Given the description of an element on the screen output the (x, y) to click on. 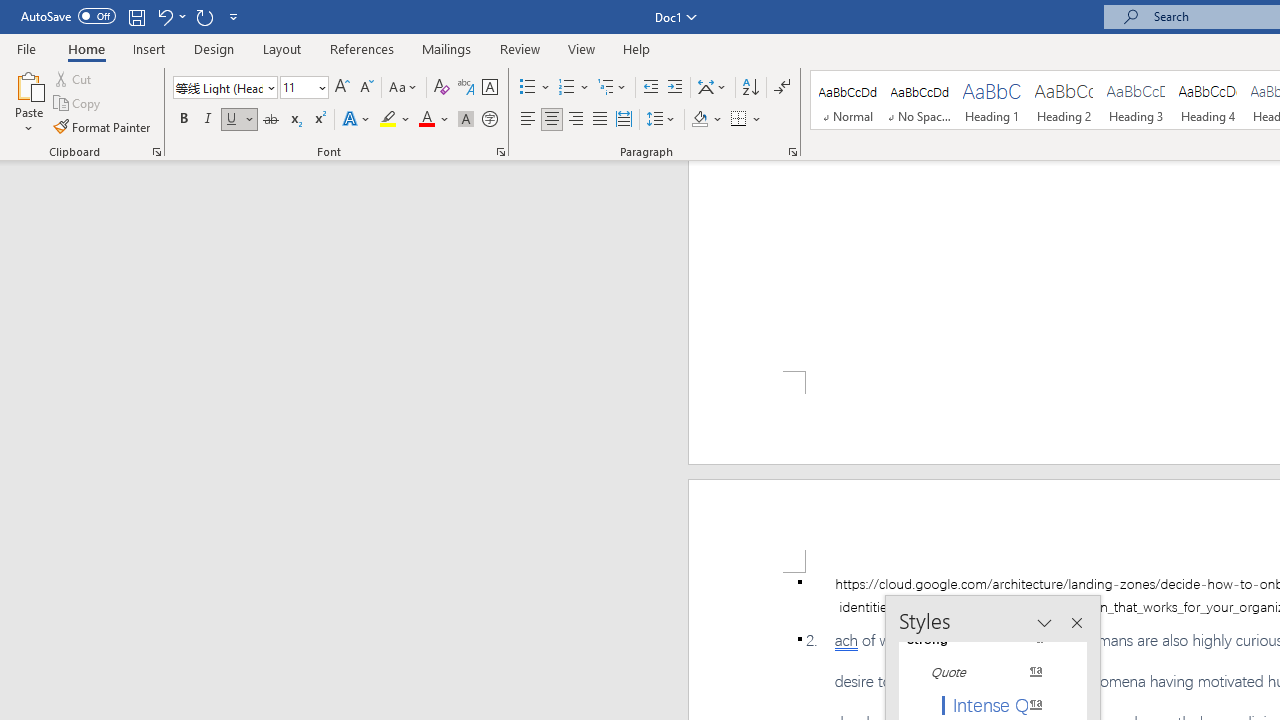
Multilevel List (613, 87)
Sort... (750, 87)
Phonetic Guide... (465, 87)
Heading 4 (1208, 100)
Font Color (434, 119)
Font Color Automatic (426, 119)
File Tab (26, 48)
Character Shading (465, 119)
Design (214, 48)
Line and Paragraph Spacing (661, 119)
Mailings (447, 48)
Shrink Font (365, 87)
Shading RGB(0, 0, 0) (699, 119)
